Given the description of an element on the screen output the (x, y) to click on. 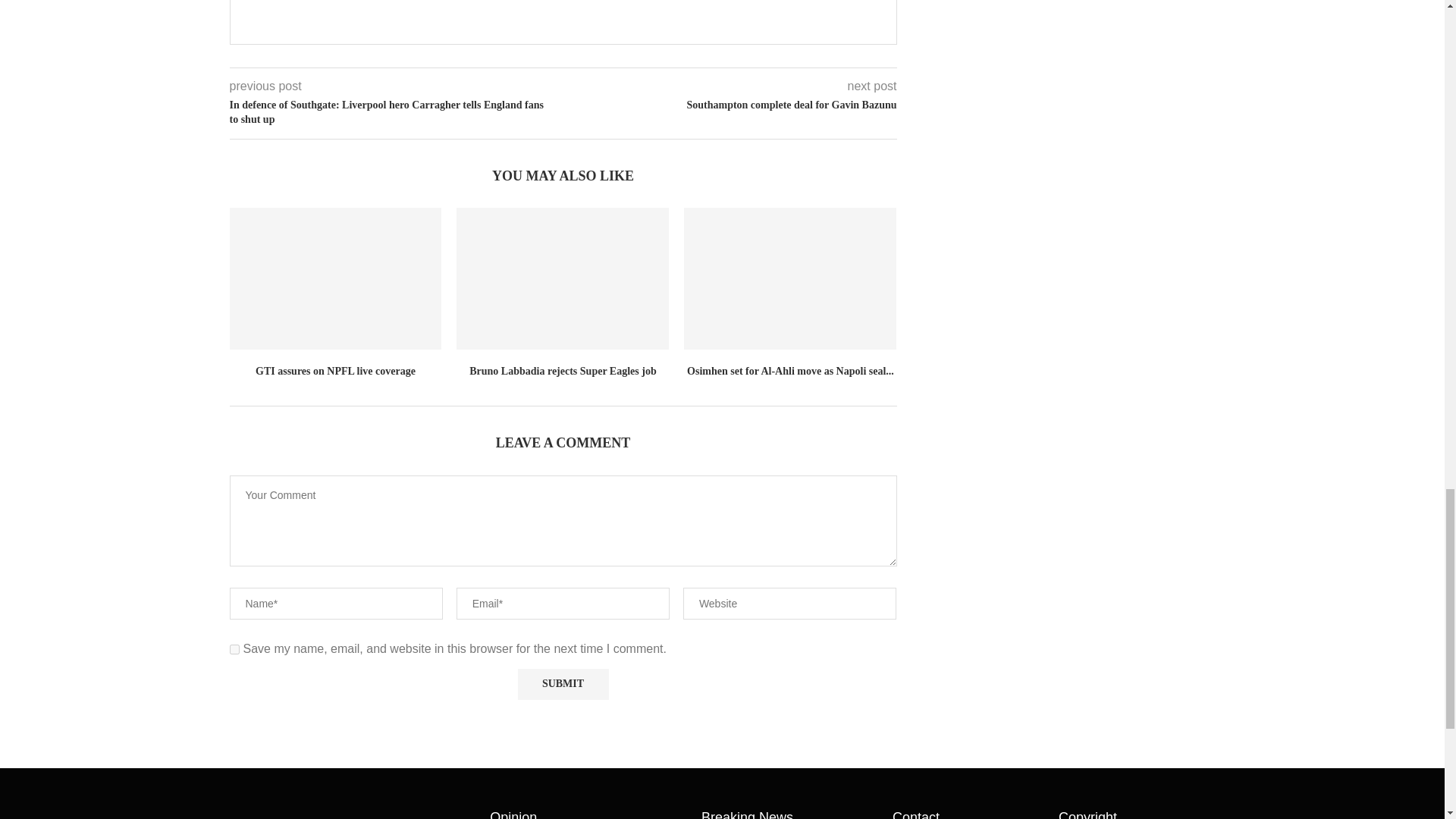
GTI assures on NPFL live coverage (334, 278)
Bruno Labbadia rejects Super Eagles job (562, 278)
Submit (562, 684)
yes (233, 649)
